Given the description of an element on the screen output the (x, y) to click on. 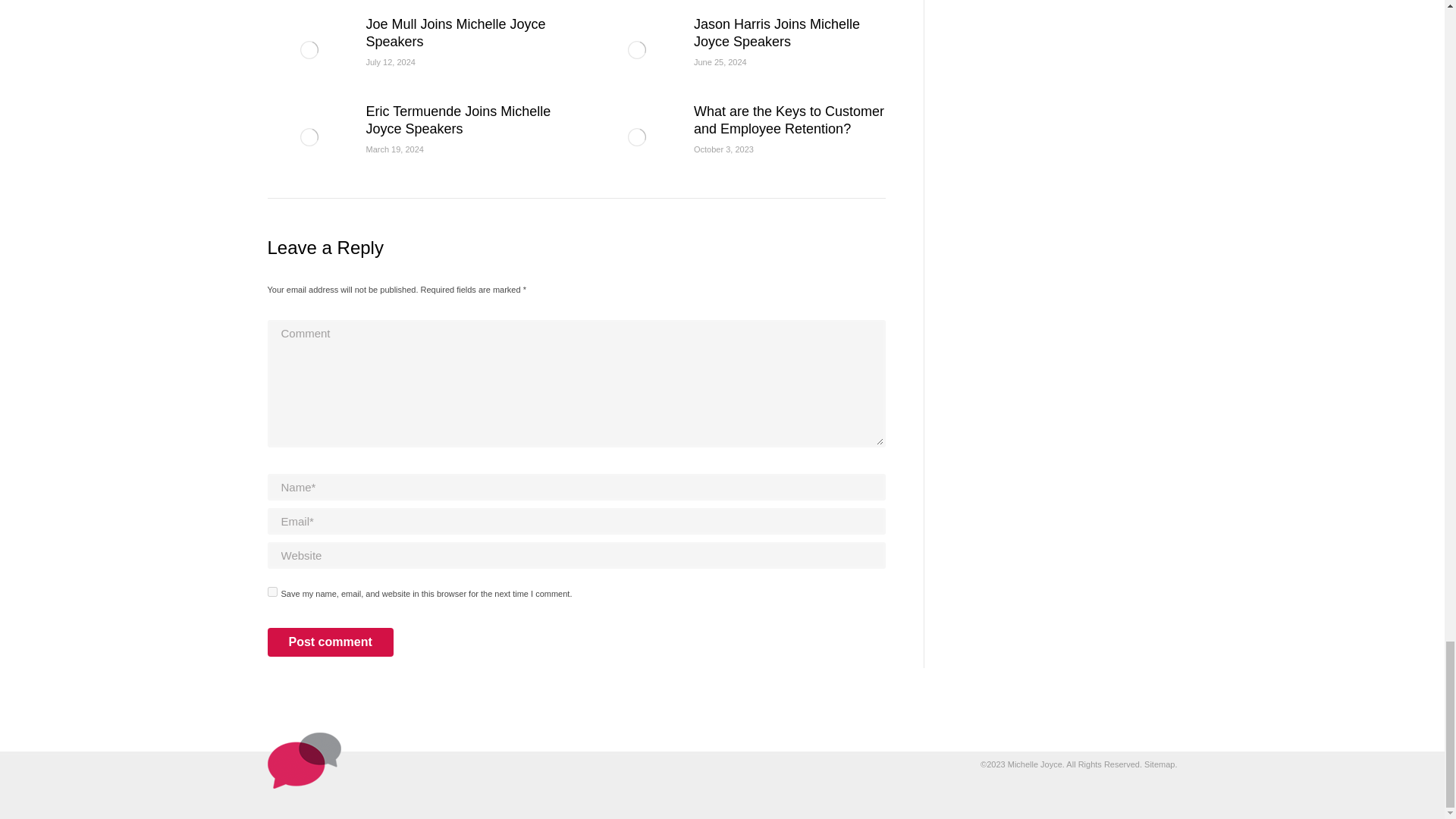
yes (271, 592)
